Given the description of an element on the screen output the (x, y) to click on. 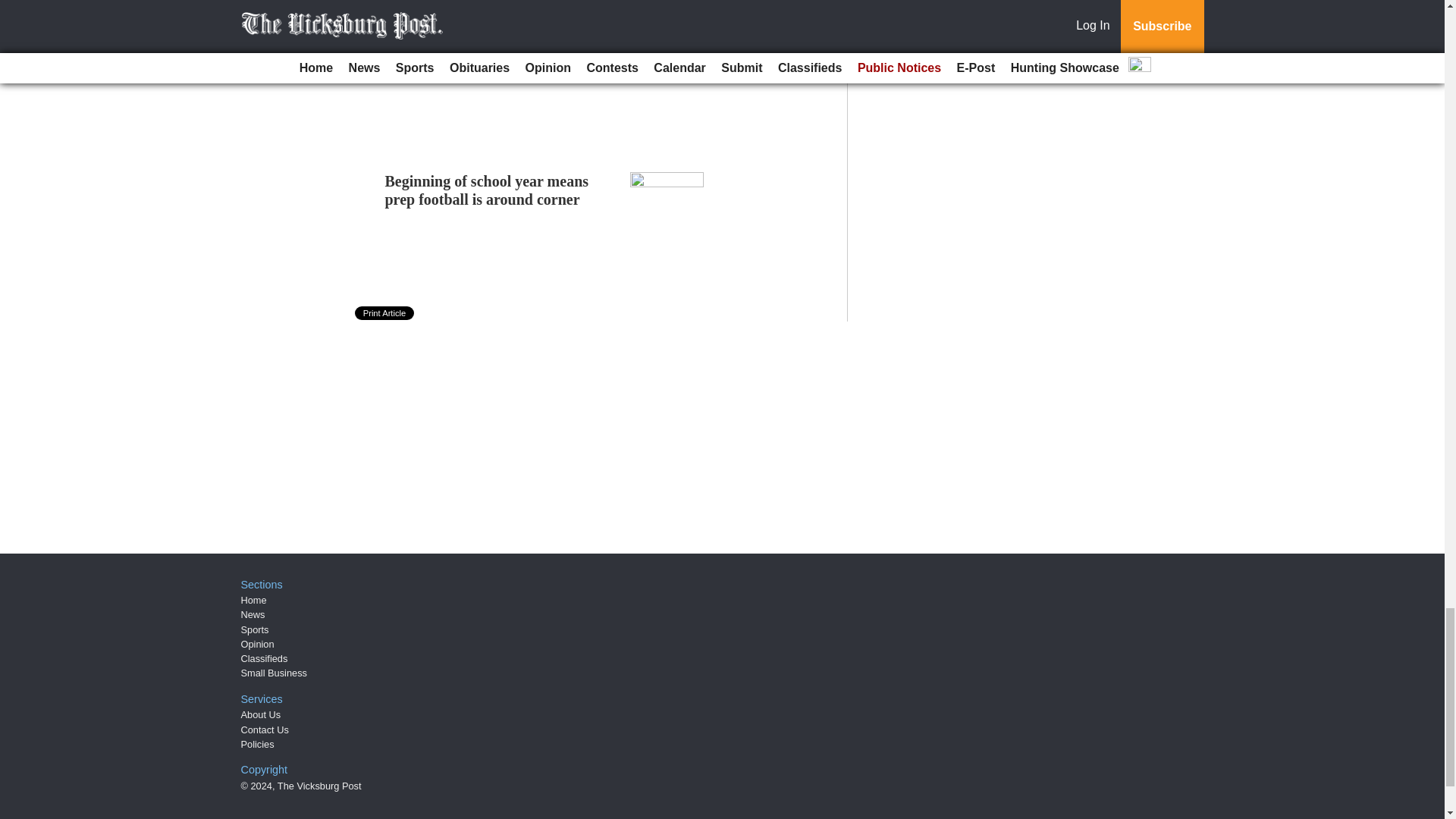
Our next magazine brings a new chance for photo submissions (490, 55)
Our next magazine brings a new chance for photo submissions (490, 55)
